Given the description of an element on the screen output the (x, y) to click on. 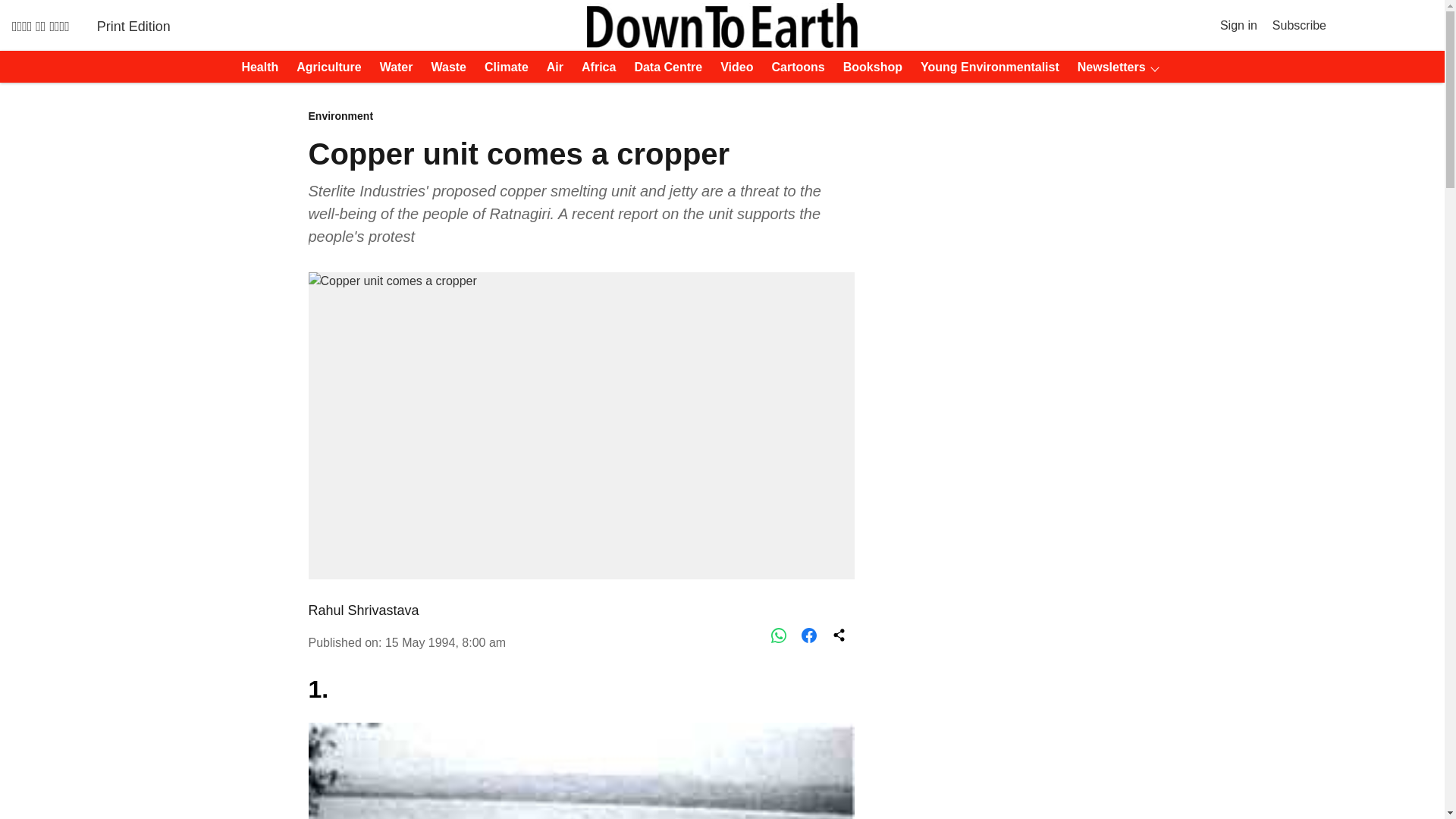
Environment (580, 116)
Cartoons (793, 67)
Young Environmentalist (985, 67)
Data Centre (662, 67)
Africa (593, 67)
Water (392, 67)
Climate (502, 67)
1994-05-15 00:00 (445, 642)
Print Edition (133, 26)
Health (254, 67)
Bookshop (868, 67)
Agriculture (323, 67)
Rahul Shrivastava (363, 610)
The controversial jetty: invit  (580, 770)
Video (731, 67)
